Given the description of an element on the screen output the (x, y) to click on. 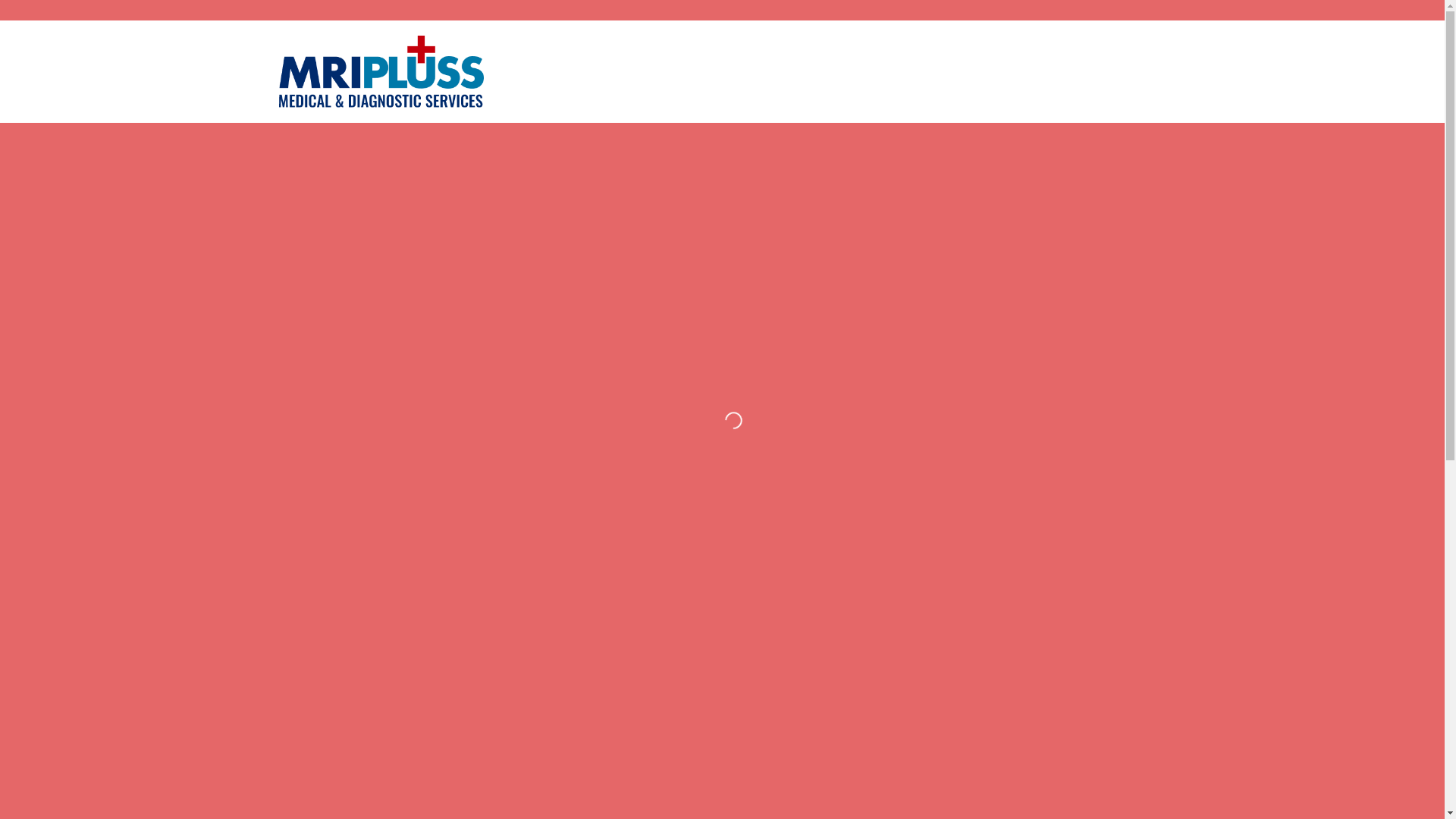
Mission Statement (724, 57)
Acceder (373, 269)
Contact Us (997, 57)
Medical Plans (909, 57)
ACCESS REPORTS (1102, 57)
Services (823, 57)
Search (102, 15)
